Given the description of an element on the screen output the (x, y) to click on. 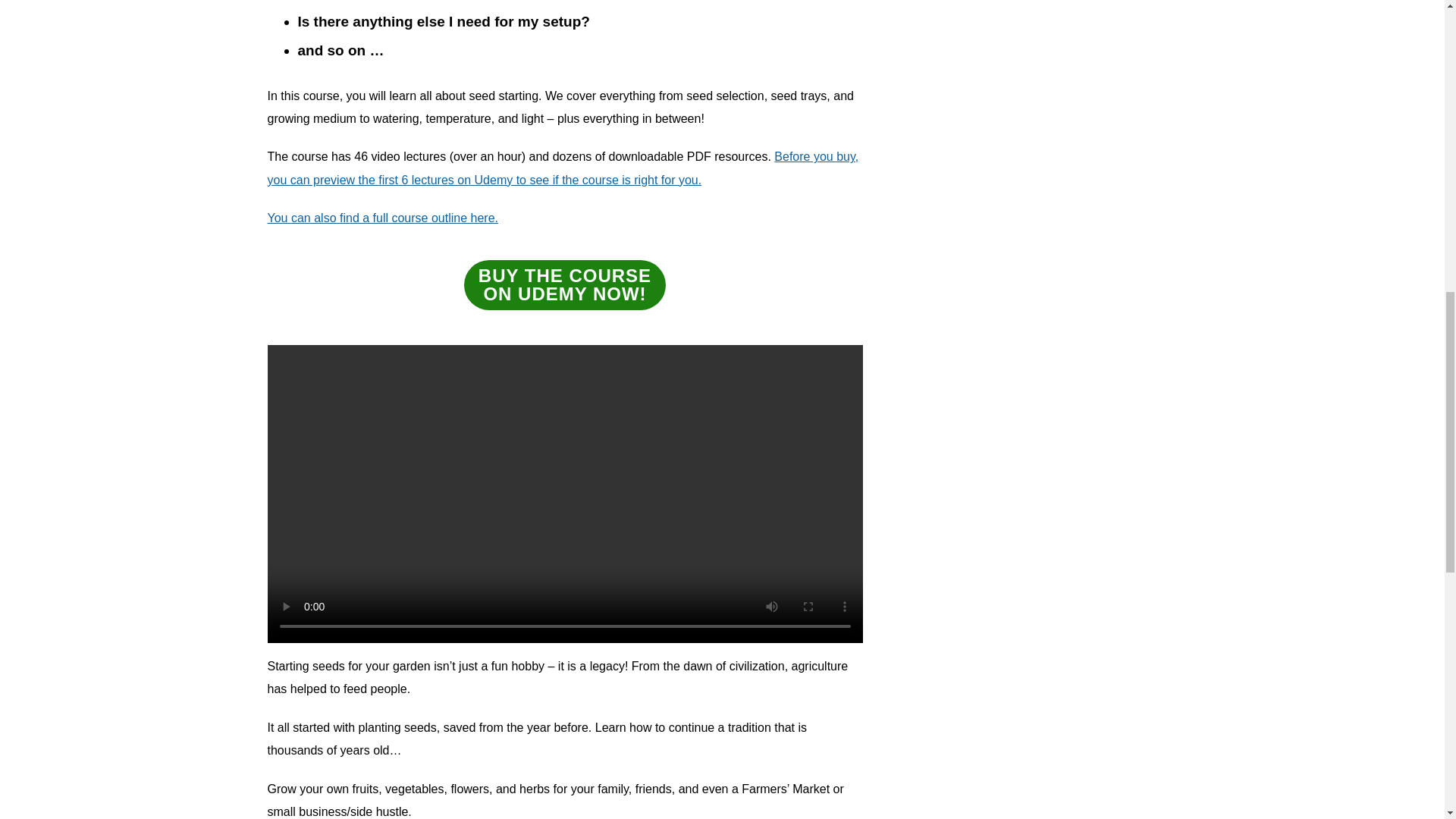
You can also find a full course outline here. (381, 217)
